Given the description of an element on the screen output the (x, y) to click on. 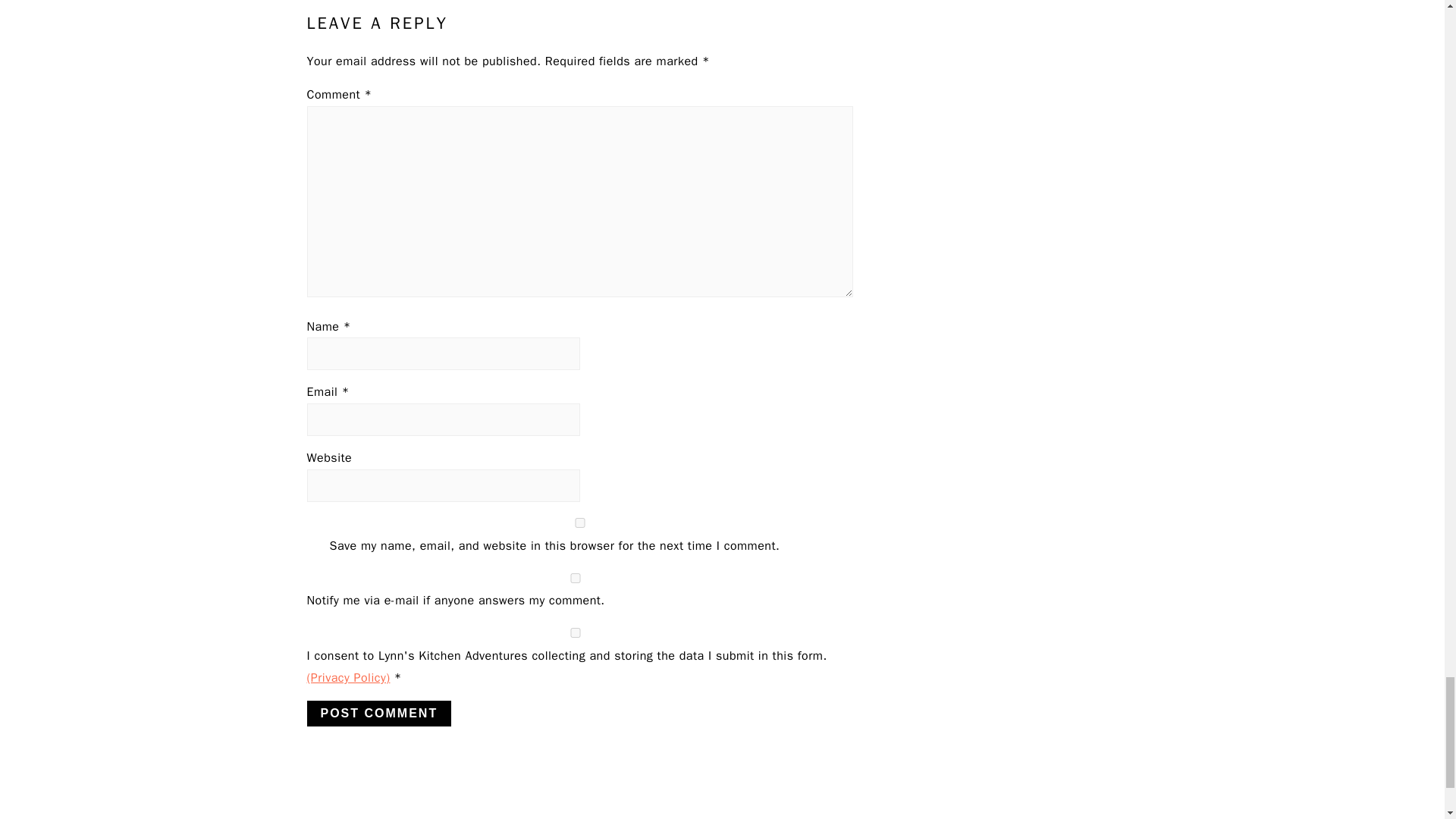
yes (574, 633)
yes (578, 522)
on (574, 578)
Post Comment (378, 713)
